Given the description of an element on the screen output the (x, y) to click on. 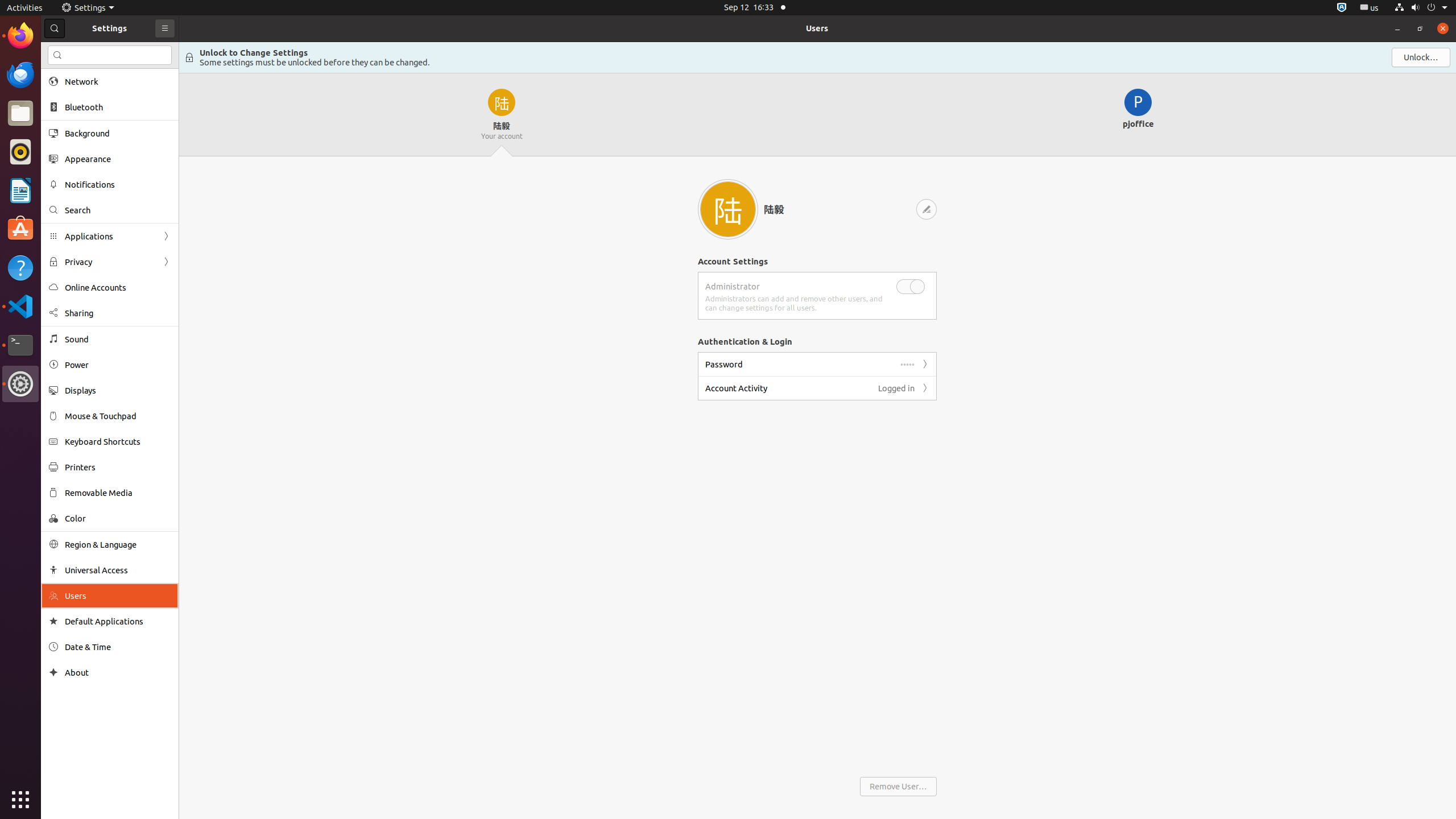
Universal Access Element type: label (117, 570)
User Icon Element type: toggle-button (727, 209)
Printers Element type: label (117, 467)
Default Applications Element type: label (117, 621)
Forward Element type: icon (924, 388)
